Given the description of an element on the screen output the (x, y) to click on. 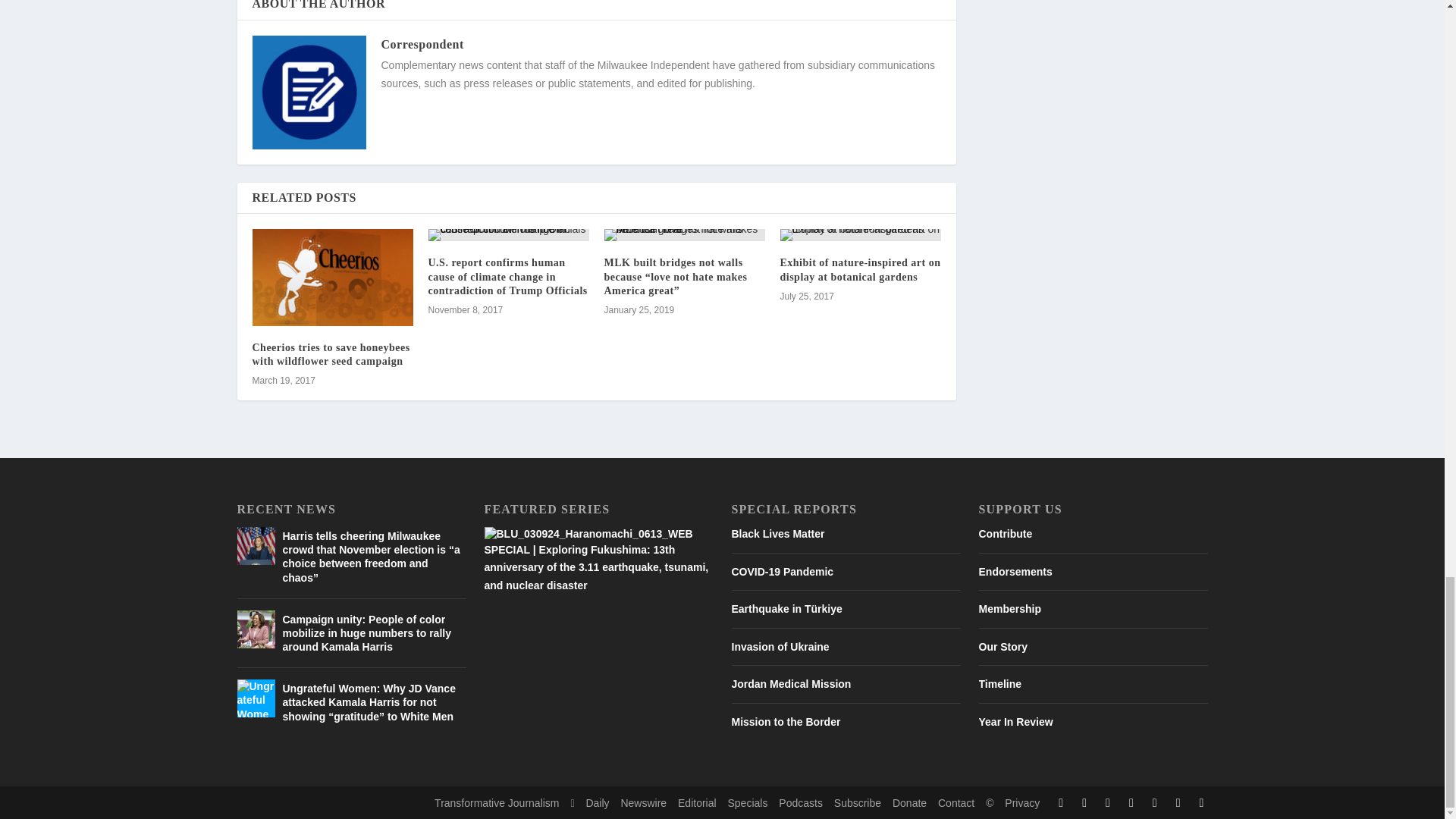
View all posts by Correspondent (421, 43)
